Given the description of an element on the screen output the (x, y) to click on. 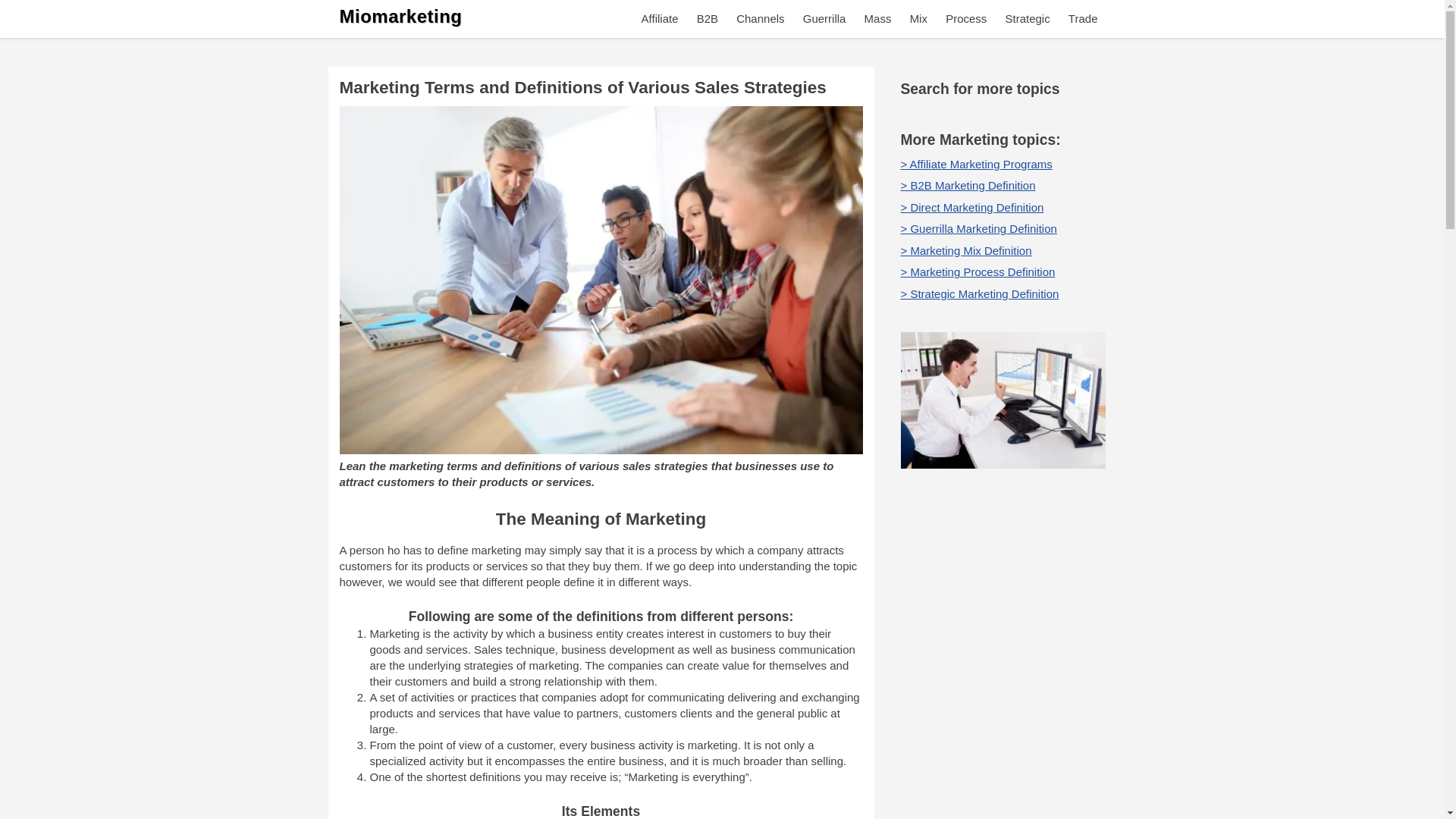
Strategic (1026, 18)
Trade (1082, 18)
Process (965, 18)
Miomarketing (401, 15)
Channels (760, 18)
Mass (877, 18)
Advertisement (1003, 616)
B2B (707, 18)
Affiliate (660, 18)
Guerrilla (824, 18)
